Given the description of an element on the screen output the (x, y) to click on. 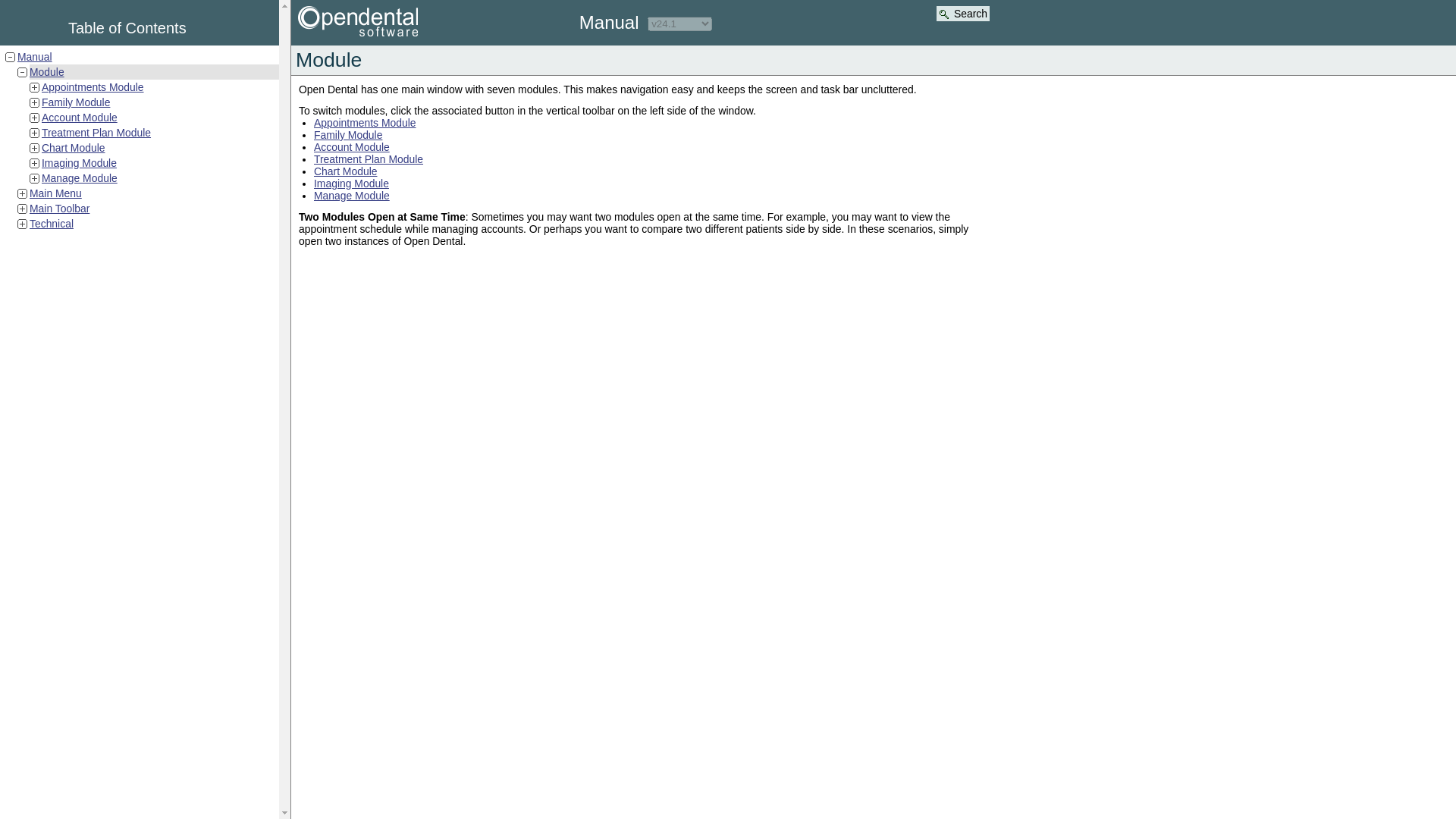
Module (46, 71)
Family Module (76, 102)
Manual (34, 56)
Appointments Module (93, 87)
